Given the description of an element on the screen output the (x, y) to click on. 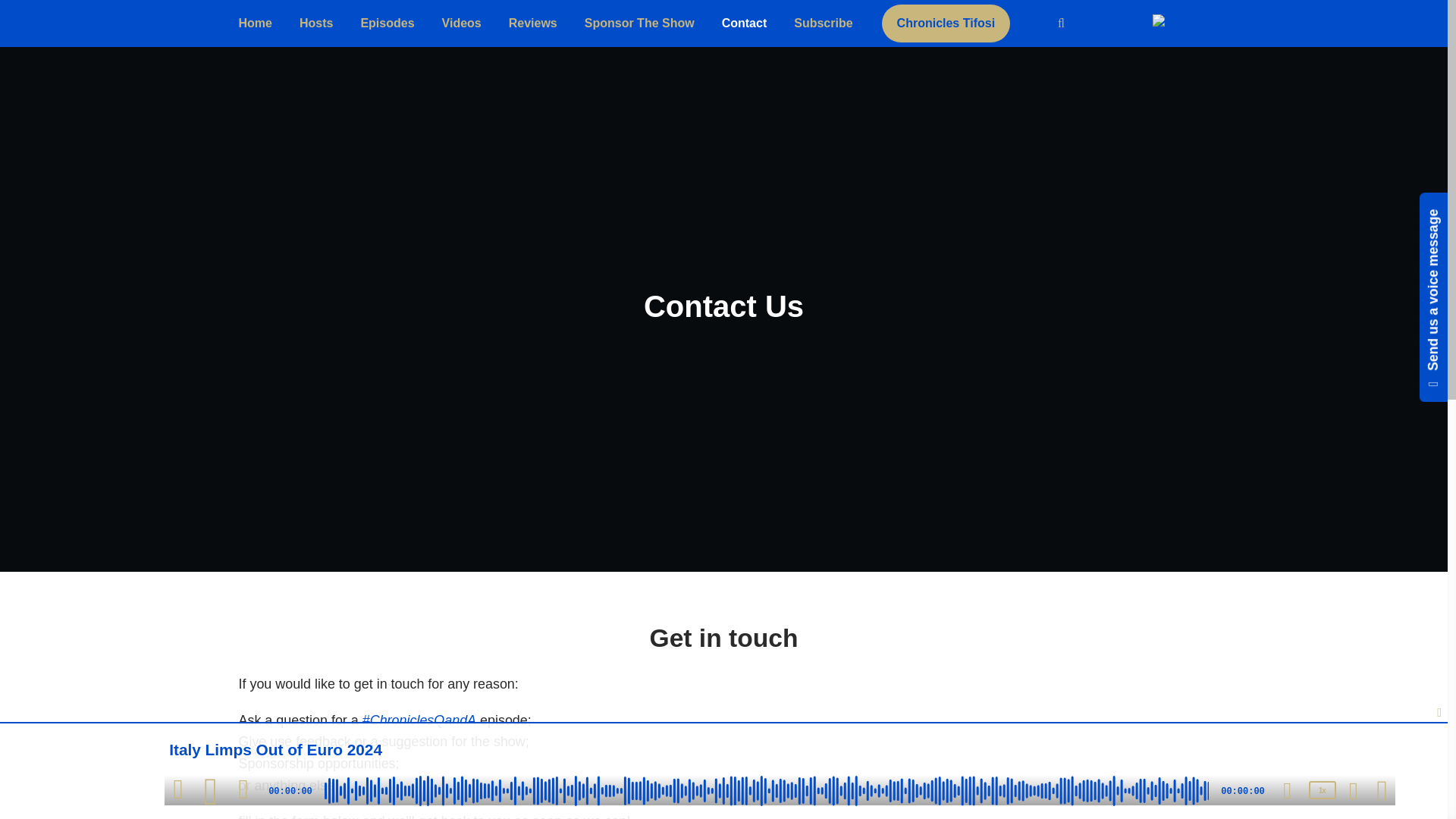
Mute (1287, 790)
Chronicles Tifosi (946, 23)
Play (211, 791)
Jump forward 30 seconds (243, 789)
Sponsor The Show (638, 23)
Episodes (387, 23)
Videos (461, 23)
Rewind 10 seconds (178, 789)
Hosts (315, 23)
Contact (743, 23)
